Given the description of an element on the screen output the (x, y) to click on. 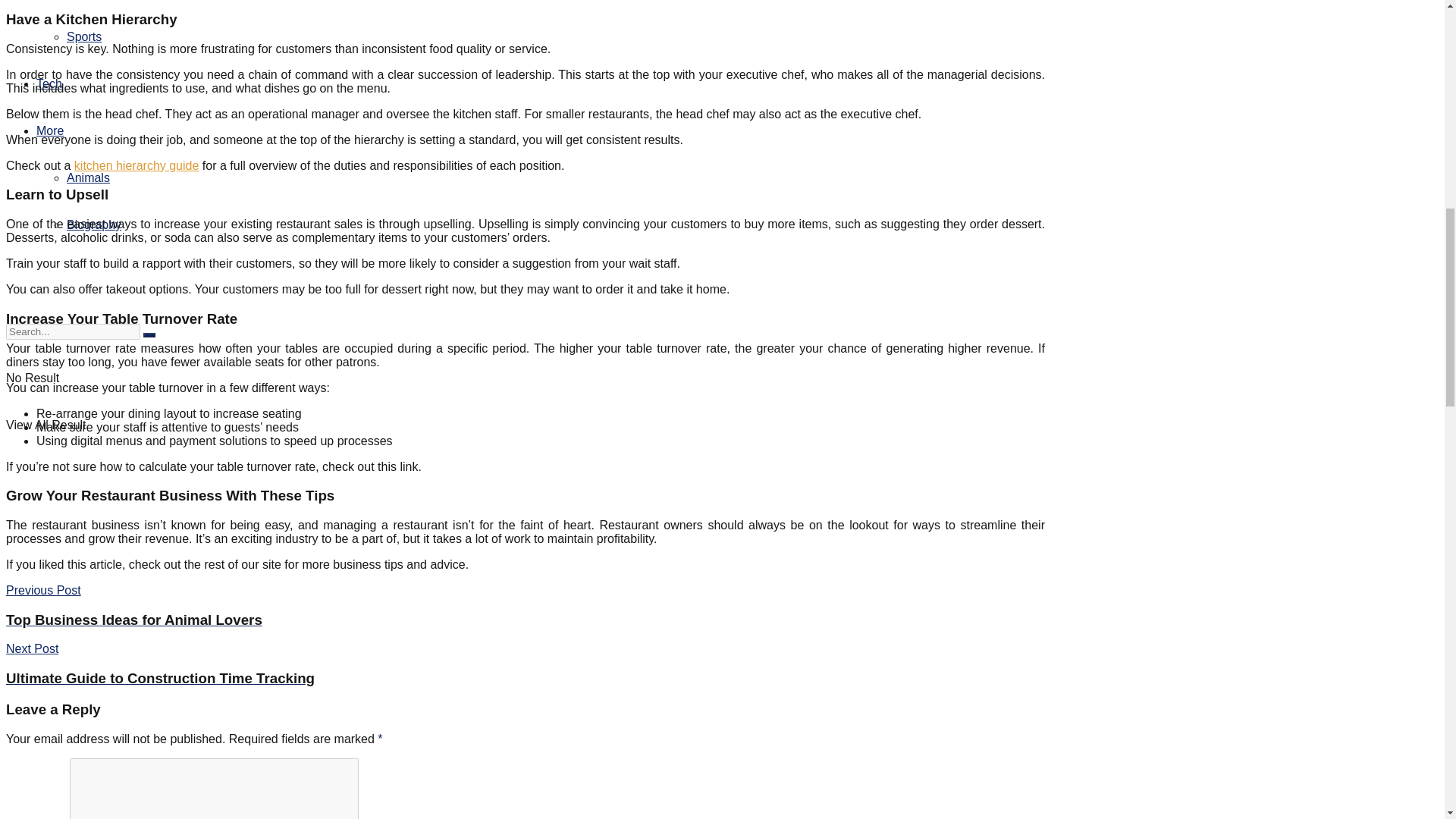
Biography (93, 224)
kitchen hierarchy guide (136, 164)
Tech (49, 83)
More (525, 619)
Animals (50, 130)
Sports (88, 177)
